Given the description of an element on the screen output the (x, y) to click on. 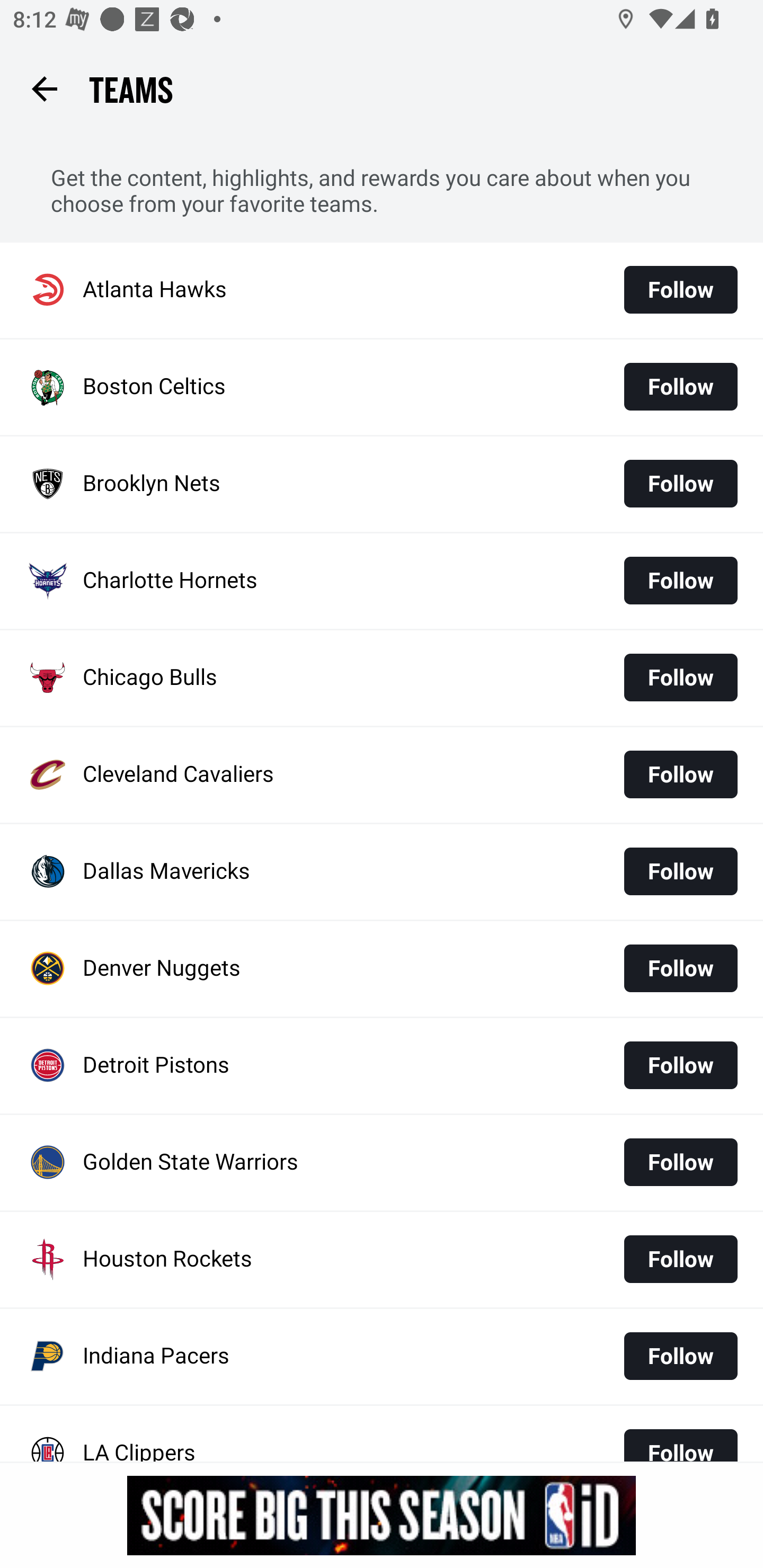
Back button (44, 88)
Atlanta Hawks Follow (381, 290)
Follow (680, 288)
Boston Celtics Follow (381, 387)
Follow (680, 386)
Brooklyn Nets Follow (381, 483)
Follow (680, 483)
Charlotte Hornets Follow (381, 580)
Follow (680, 580)
Chicago Bulls Follow (381, 677)
Follow (680, 677)
Cleveland Cavaliers Follow (381, 775)
Follow (680, 774)
Dallas Mavericks Follow (381, 871)
Follow (680, 870)
Denver Nuggets Follow (381, 968)
Follow (680, 967)
Detroit Pistons Follow (381, 1065)
Follow (680, 1065)
Golden State Warriors Follow (381, 1162)
Follow (680, 1162)
Houston Rockets Follow (381, 1259)
Follow (680, 1258)
Indiana Pacers Follow (381, 1356)
Follow (680, 1355)
LA Clippers Follow (381, 1433)
Follow (680, 1437)
g5nqqygr7owph (381, 1515)
